Given the description of an element on the screen output the (x, y) to click on. 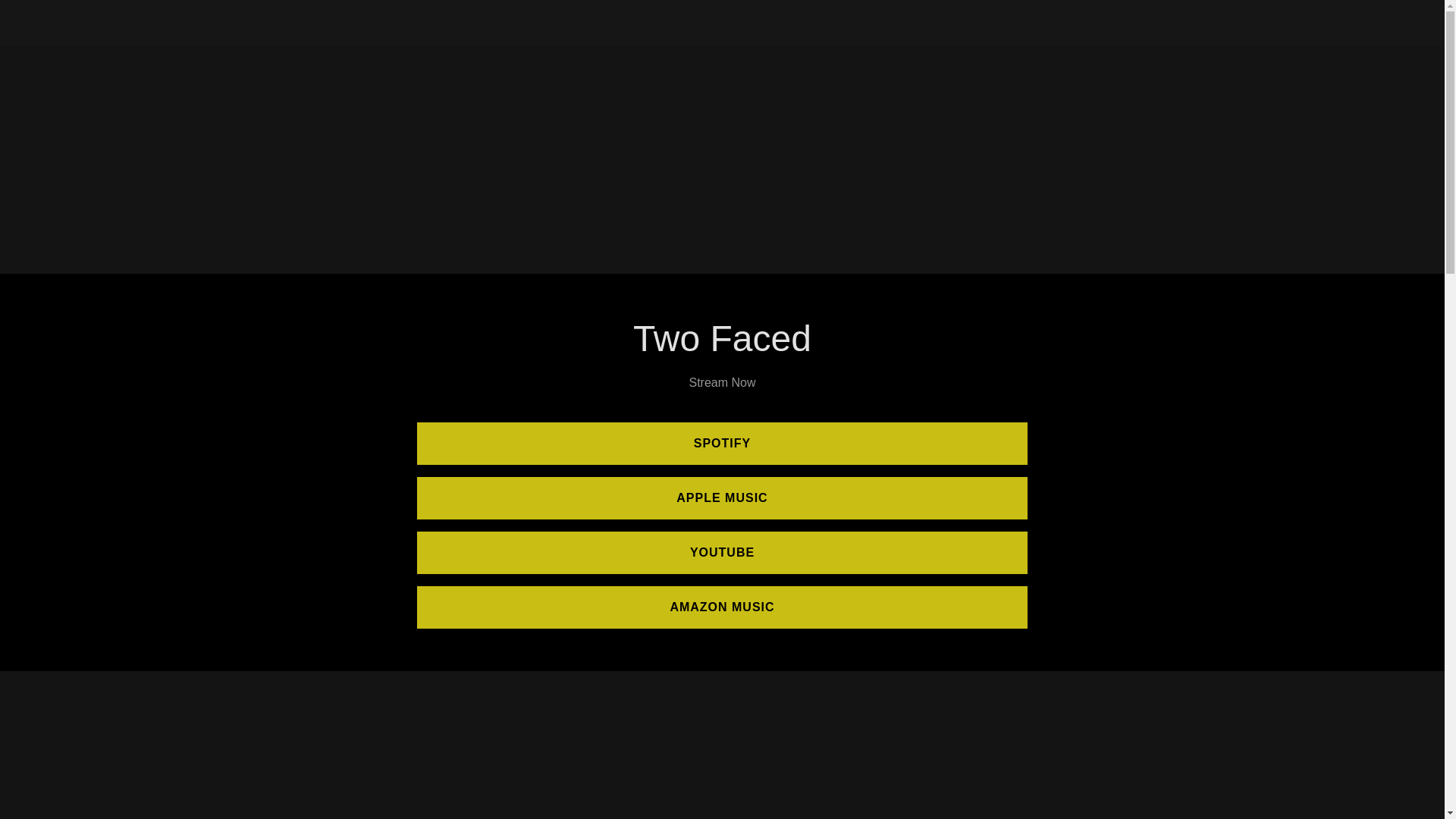
YOUTUBE (721, 552)
SPOTIFY (721, 443)
APPLE MUSIC (721, 497)
AMAZON MUSIC (721, 607)
